Given the description of an element on the screen output the (x, y) to click on. 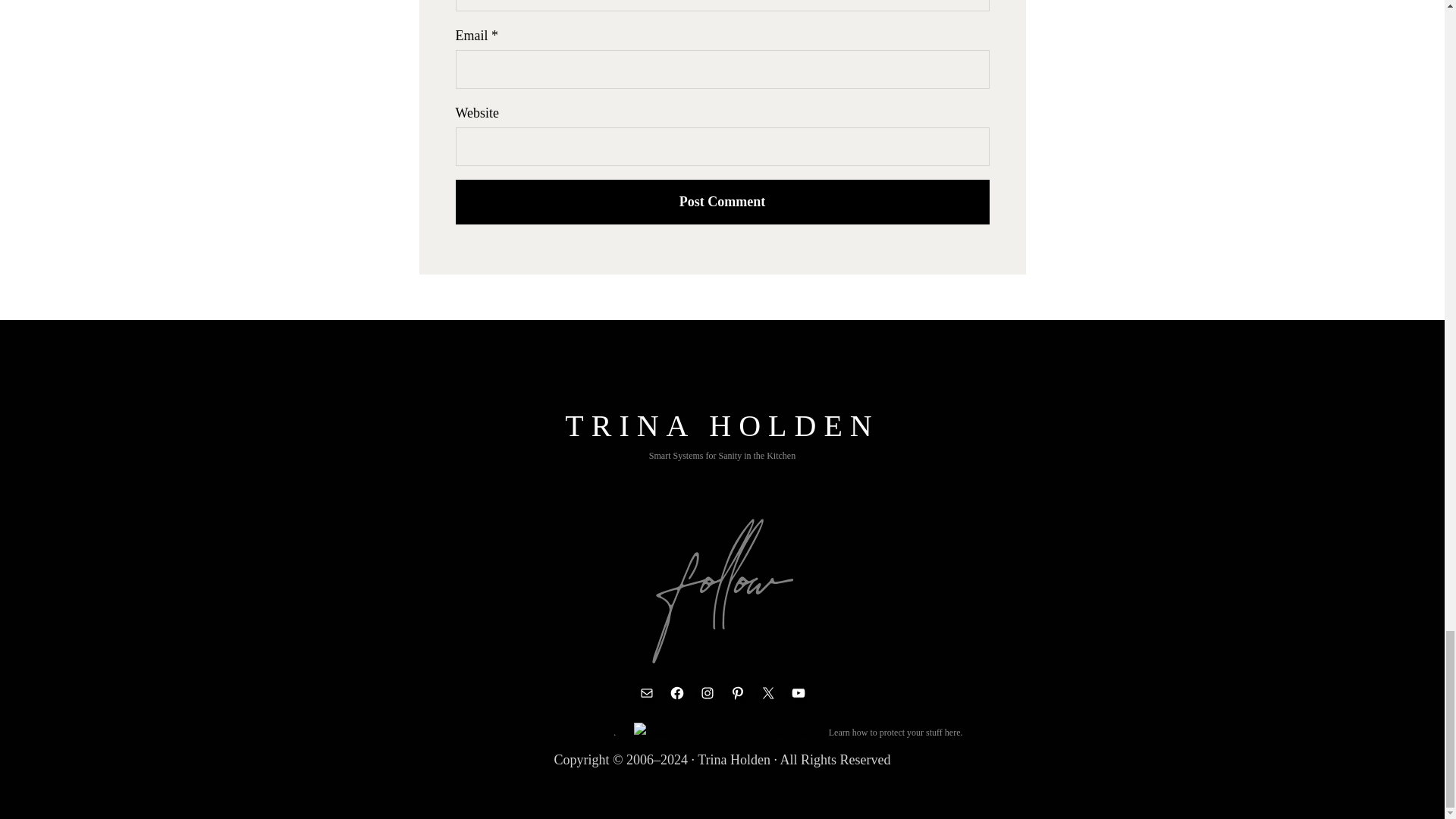
X (767, 692)
Facebook (676, 692)
Pinterest (737, 692)
Post Comment (721, 201)
DMCA.com Protection Program (721, 733)
Mail (646, 692)
Post Comment (721, 201)
YouTube (798, 692)
Learn how to protect your stuff here (547, 732)
Instagram (707, 692)
